Given the description of an element on the screen output the (x, y) to click on. 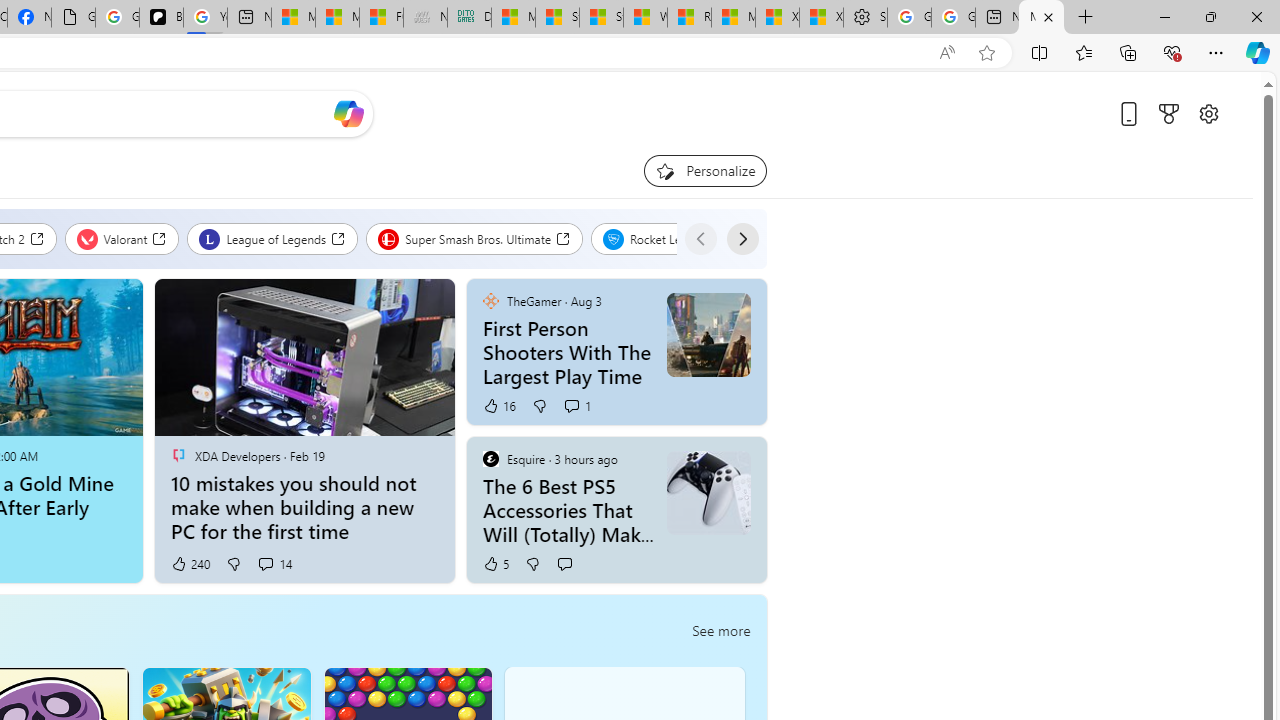
XDA Developers (178, 455)
Super Smash Bros. Ultimate (474, 238)
Hide this story (706, 460)
Rocket League (664, 238)
Open settings (1208, 113)
Be Smart | creating Science videos | Patreon (161, 17)
Next (742, 238)
Open Copilot (347, 113)
